Given the description of an element on the screen output the (x, y) to click on. 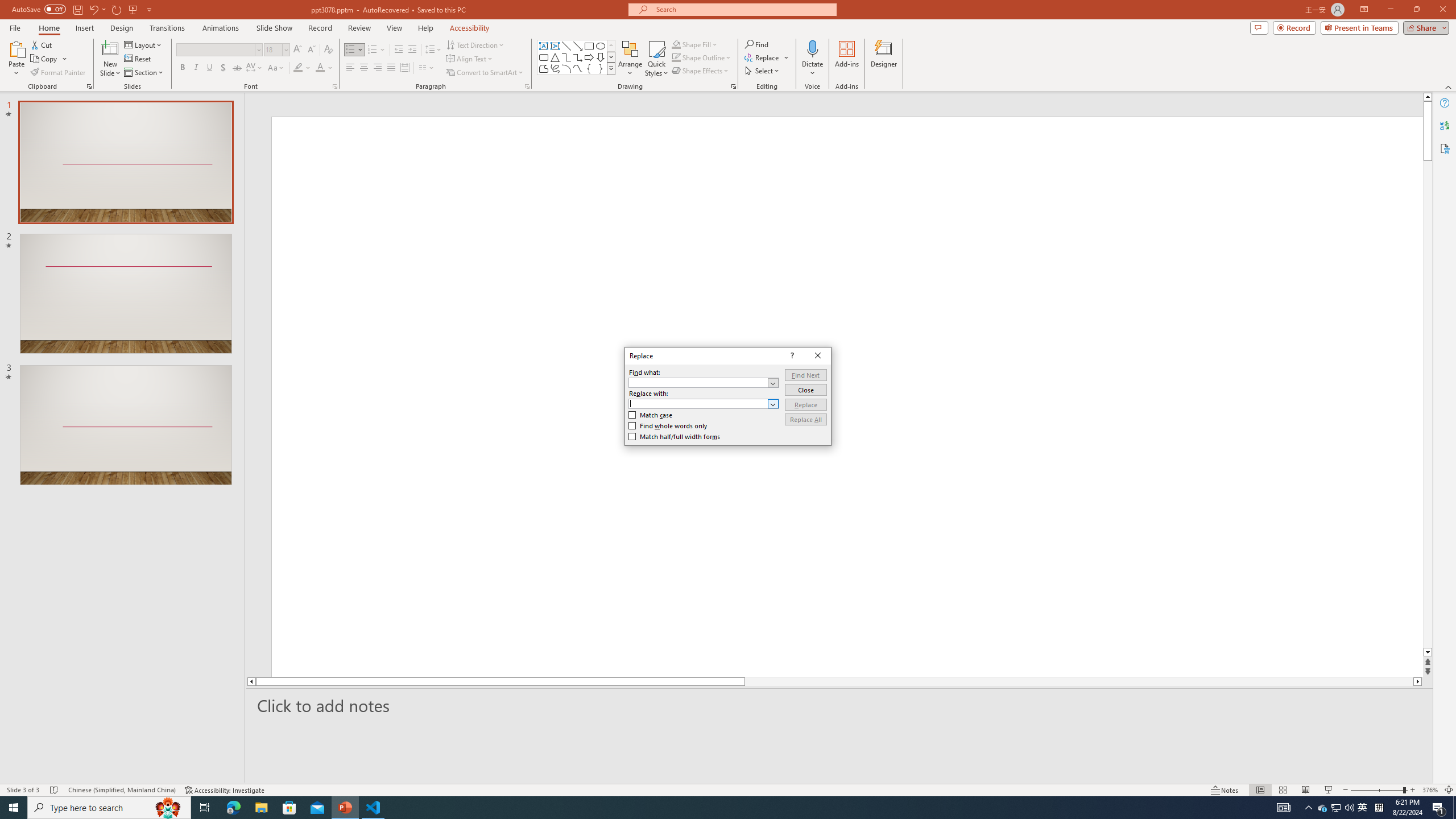
Freeform: Scribble (554, 68)
Arrange (630, 58)
Shapes (611, 68)
Restore Down (1416, 9)
Line down (1427, 652)
New Slide (110, 48)
Section (144, 72)
Shape Fill Dark Green, Accent 2 (675, 44)
Italic (195, 67)
Designer (883, 58)
Font... (334, 85)
Tray Input Indicator - Chinese (Simplified, China) (1378, 807)
